Given the description of an element on the screen output the (x, y) to click on. 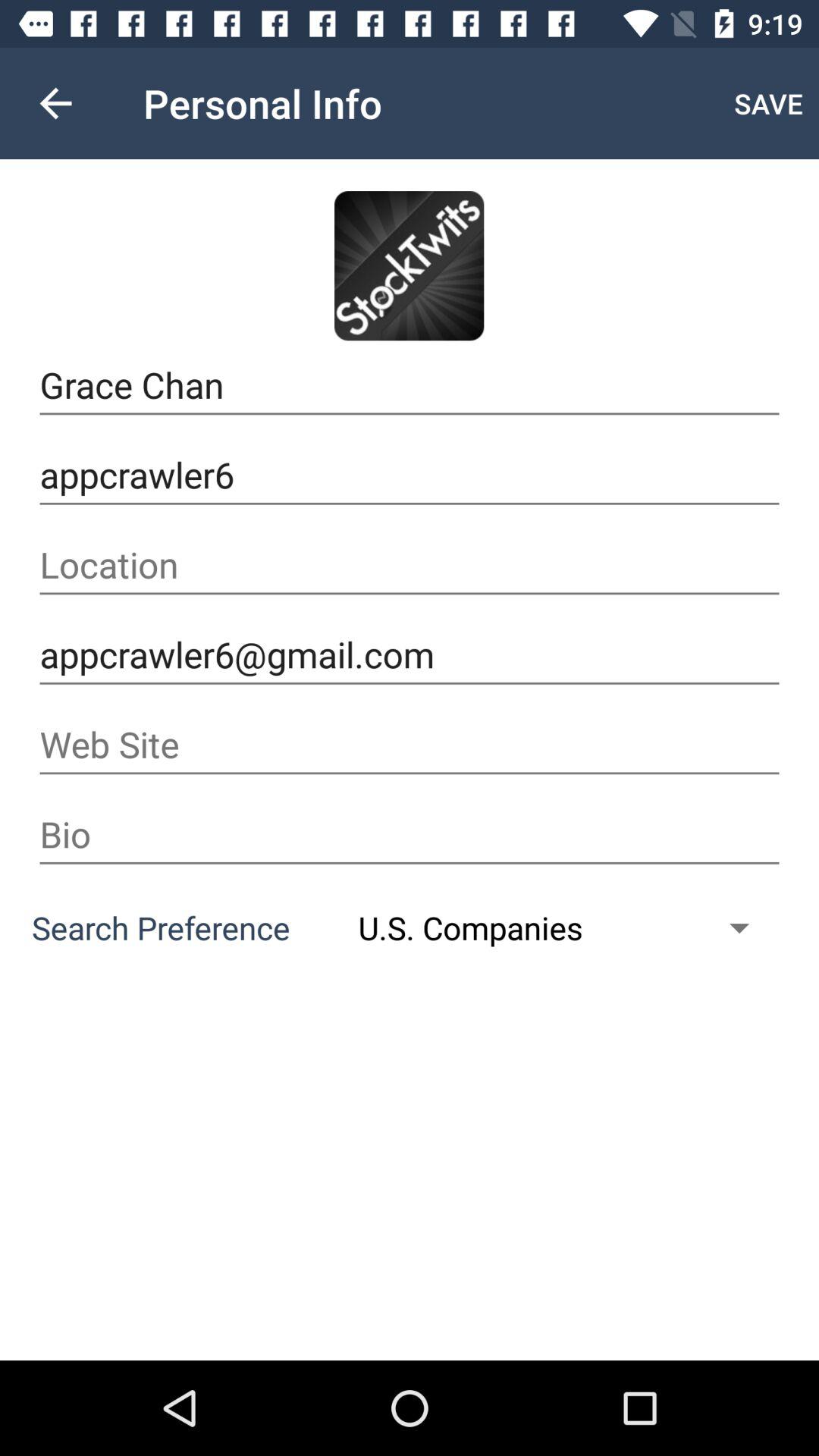
turn on the appcrawler6@gmail.com item (409, 655)
